Given the description of an element on the screen output the (x, y) to click on. 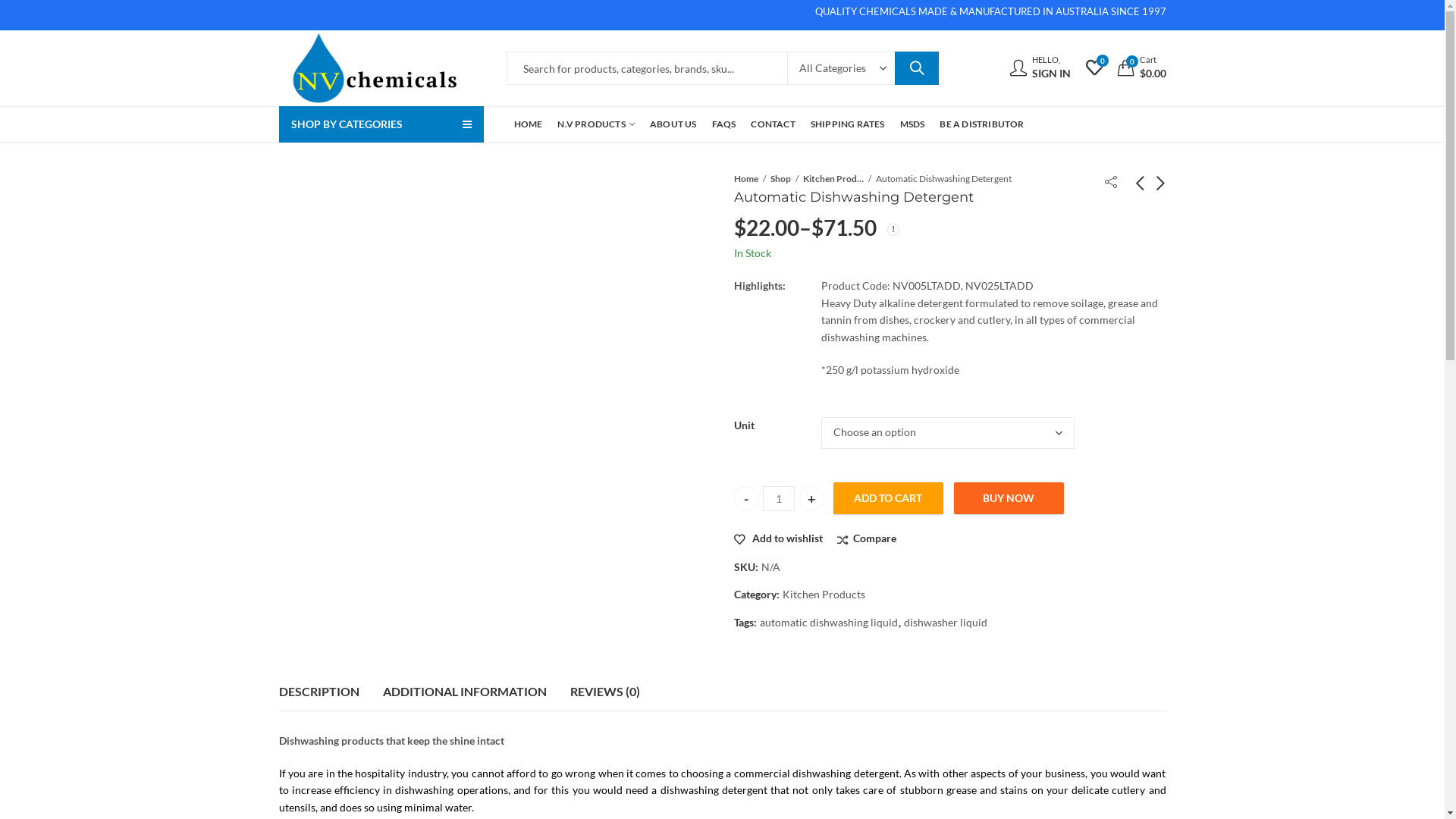
HELLO,
SIGN IN Element type: text (1040, 68)
dishwasher liquid Element type: text (945, 622)
SHIPPING RATES Element type: text (847, 124)
ADD TO CART Element type: text (887, 498)
MSDS Element type: text (912, 124)
Shop Element type: text (780, 178)
Qty Element type: hover (778, 498)
Home Element type: text (746, 178)
CONTACT Element type: text (772, 124)
automatic dishwashing liquid Element type: text (828, 622)
DESCRIPTION Element type: text (319, 691)
Compare Element type: text (866, 538)
HOME Element type: text (528, 124)
Kitchen Products Element type: text (832, 178)
ADDITIONAL INFORMATION Element type: text (464, 691)
BUY NOW Element type: text (1008, 498)
SEARCH Element type: text (916, 67)
0
Cart
$0.00 Element type: text (1141, 68)
0 Element type: text (1093, 66)
BE A DISTRIBUTOR Element type: text (981, 124)
Kitchen Products Element type: text (823, 594)
N.V PRODUCTS Element type: text (595, 124)
FAQS Element type: text (723, 124)
REVIEWS (0) Element type: text (605, 691)
ABOUT US Element type: text (673, 124)
Add to wishlist Element type: text (778, 537)
